Given the description of an element on the screen output the (x, y) to click on. 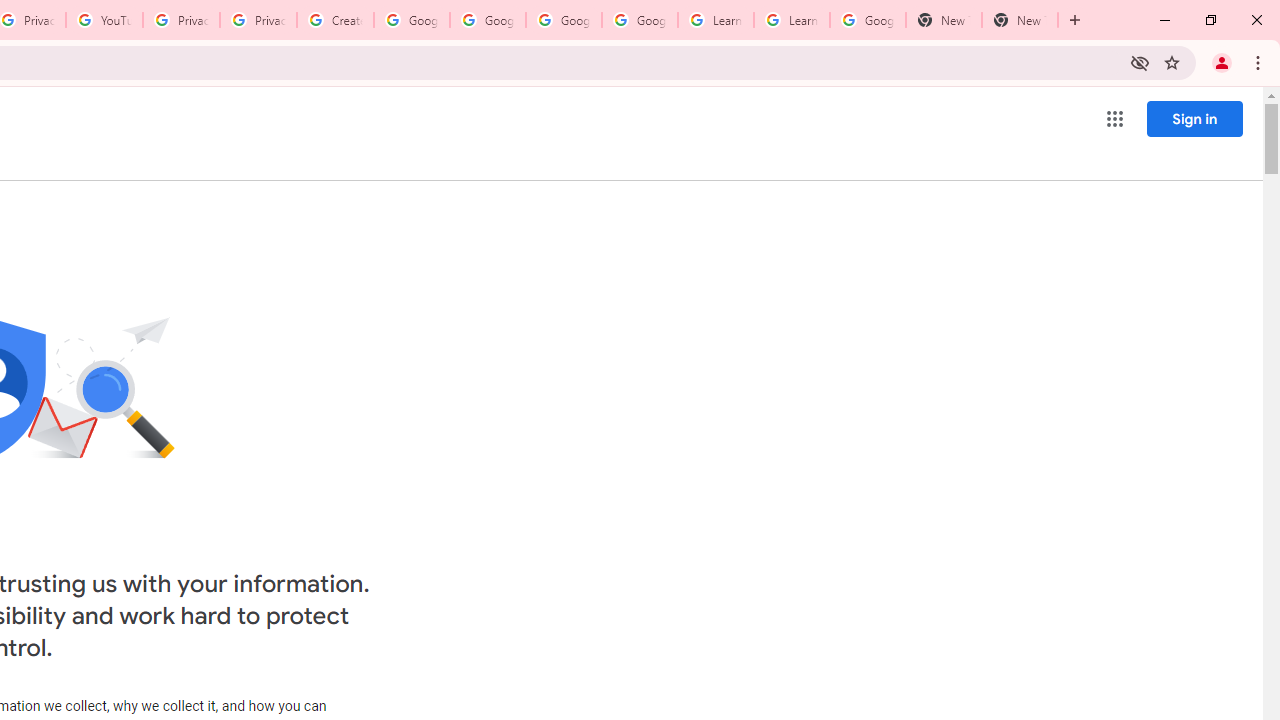
New Tab (1019, 20)
New Tab (943, 20)
